Given the description of an element on the screen output the (x, y) to click on. 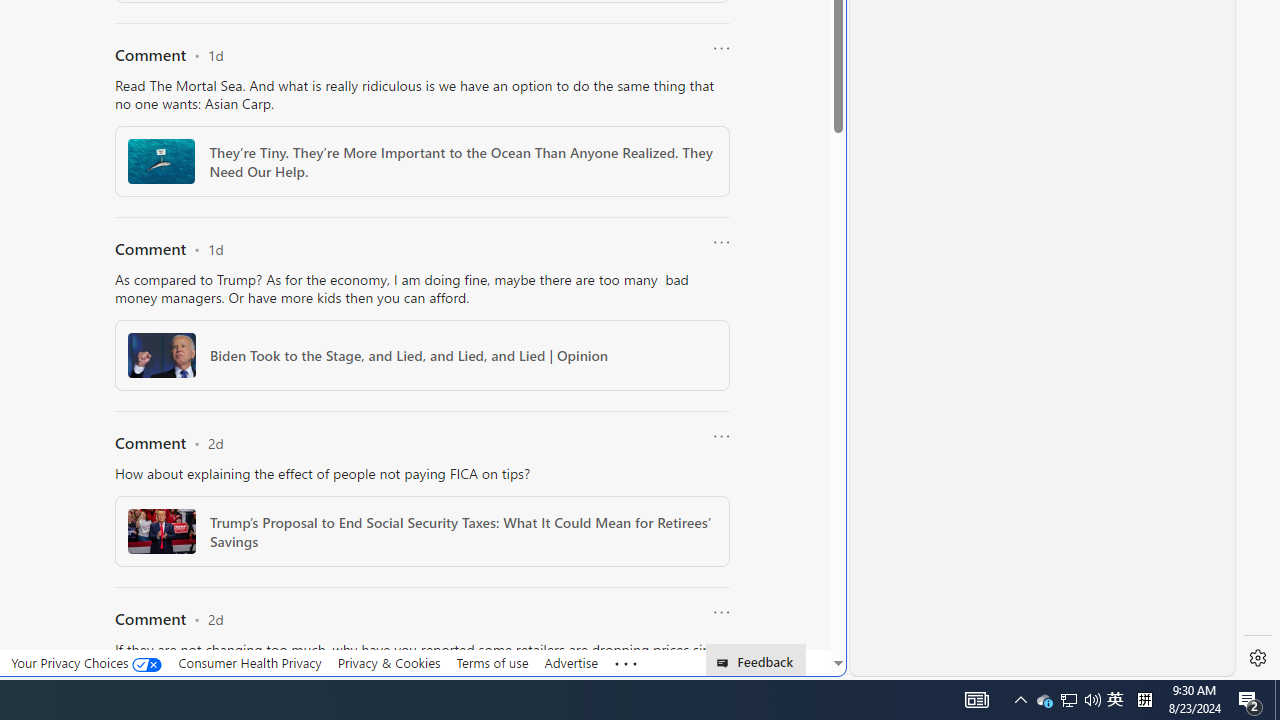
Class: feedback_link_icon-DS-EntryPoint1-1 (726, 663)
